Given the description of an element on the screen output the (x, y) to click on. 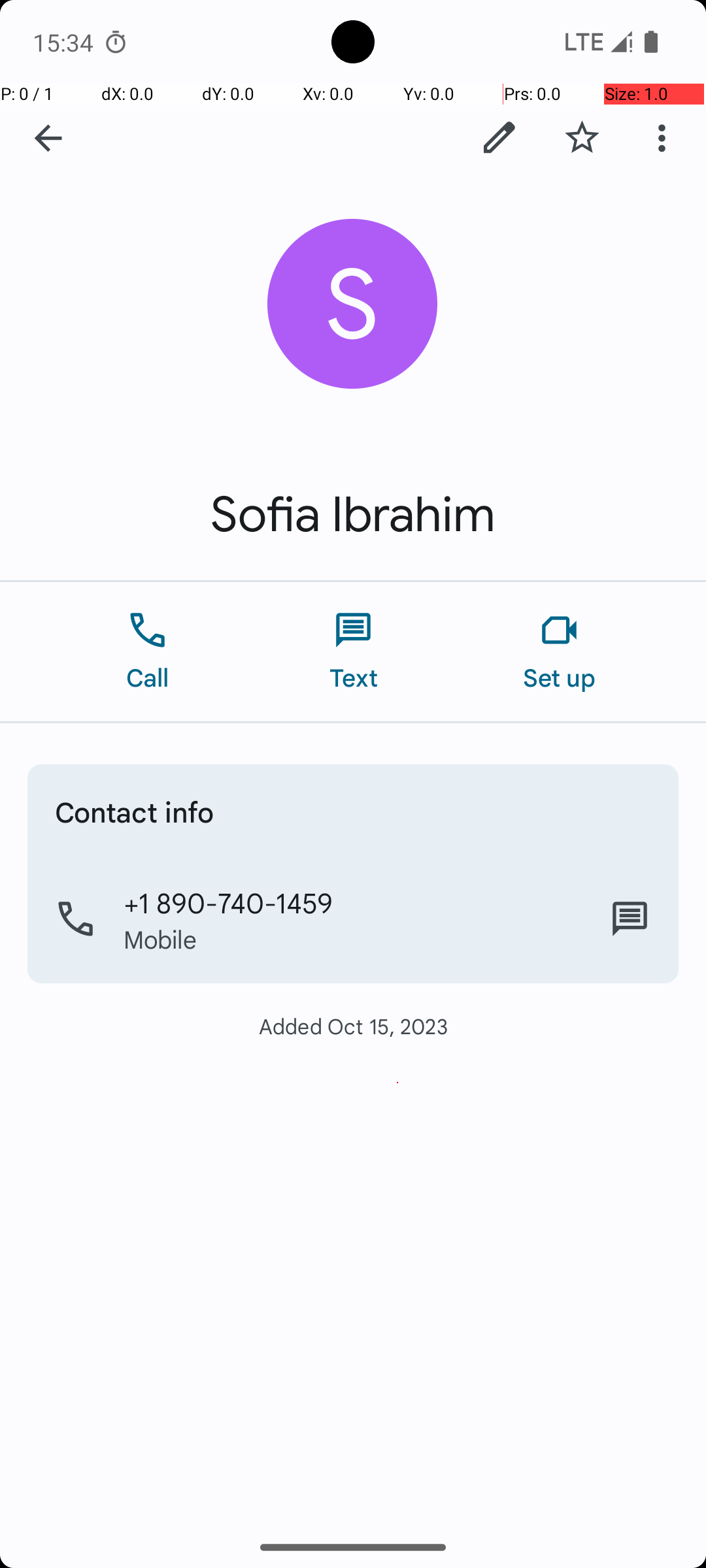
Edit contact Element type: android.widget.Button (498, 137)
Contact photo Element type: android.widget.ImageView (352, 303)
Set up Element type: android.widget.TextView (559, 651)
Sofia Ibrahim Element type: android.widget.TextView (352, 514)
Contact info Element type: android.widget.TextView (134, 811)
Call Mobile +1 890-740-1459 Element type: android.widget.RelativeLayout (352, 919)
Added Oct 15, 2023 Element type: android.widget.TextView (352, 1025)
+1 890-740-1459 Element type: android.widget.TextView (227, 901)
Text Mobile +1 890-740-1459 Element type: android.widget.Button (629, 919)
